Given the description of an element on the screen output the (x, y) to click on. 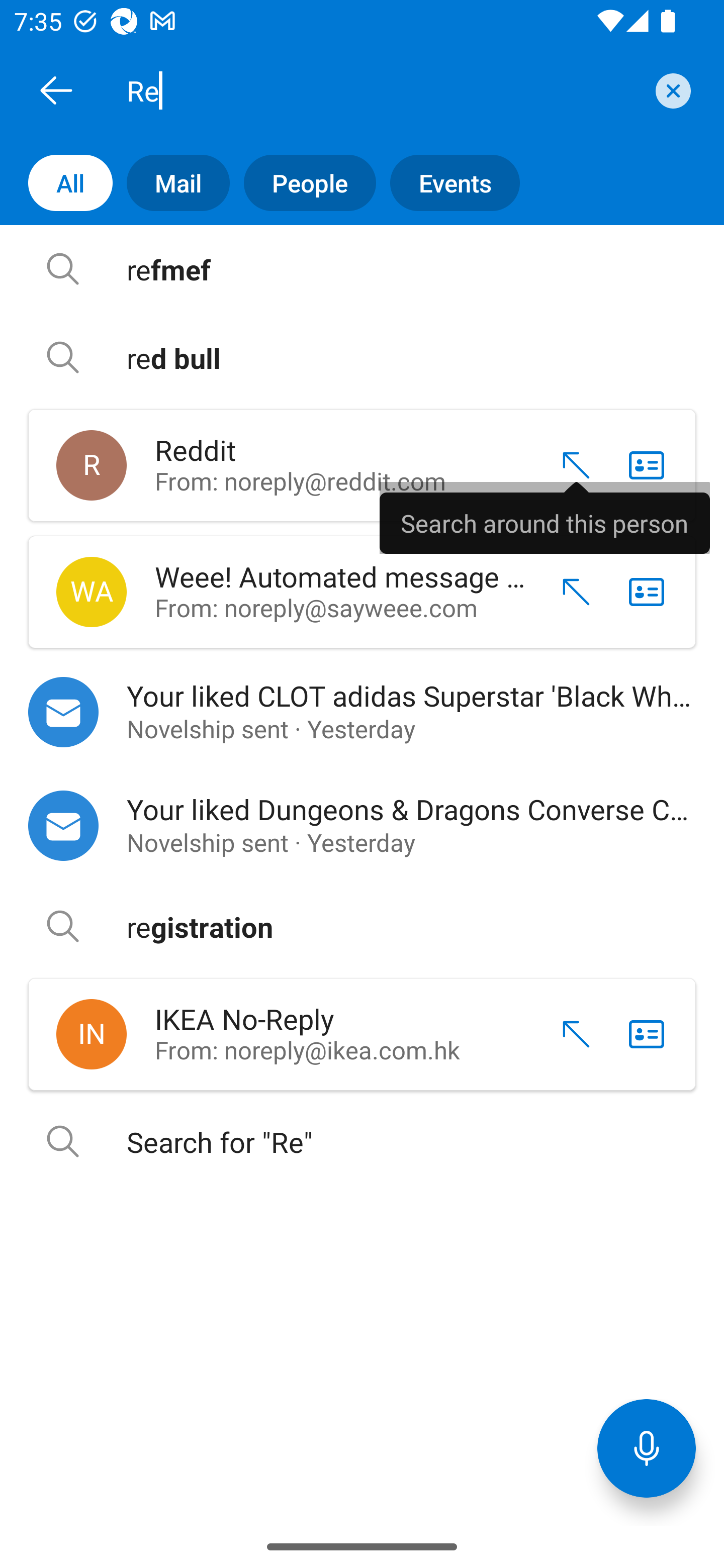
Search around this person (544, 517)
